Given the description of an element on the screen output the (x, y) to click on. 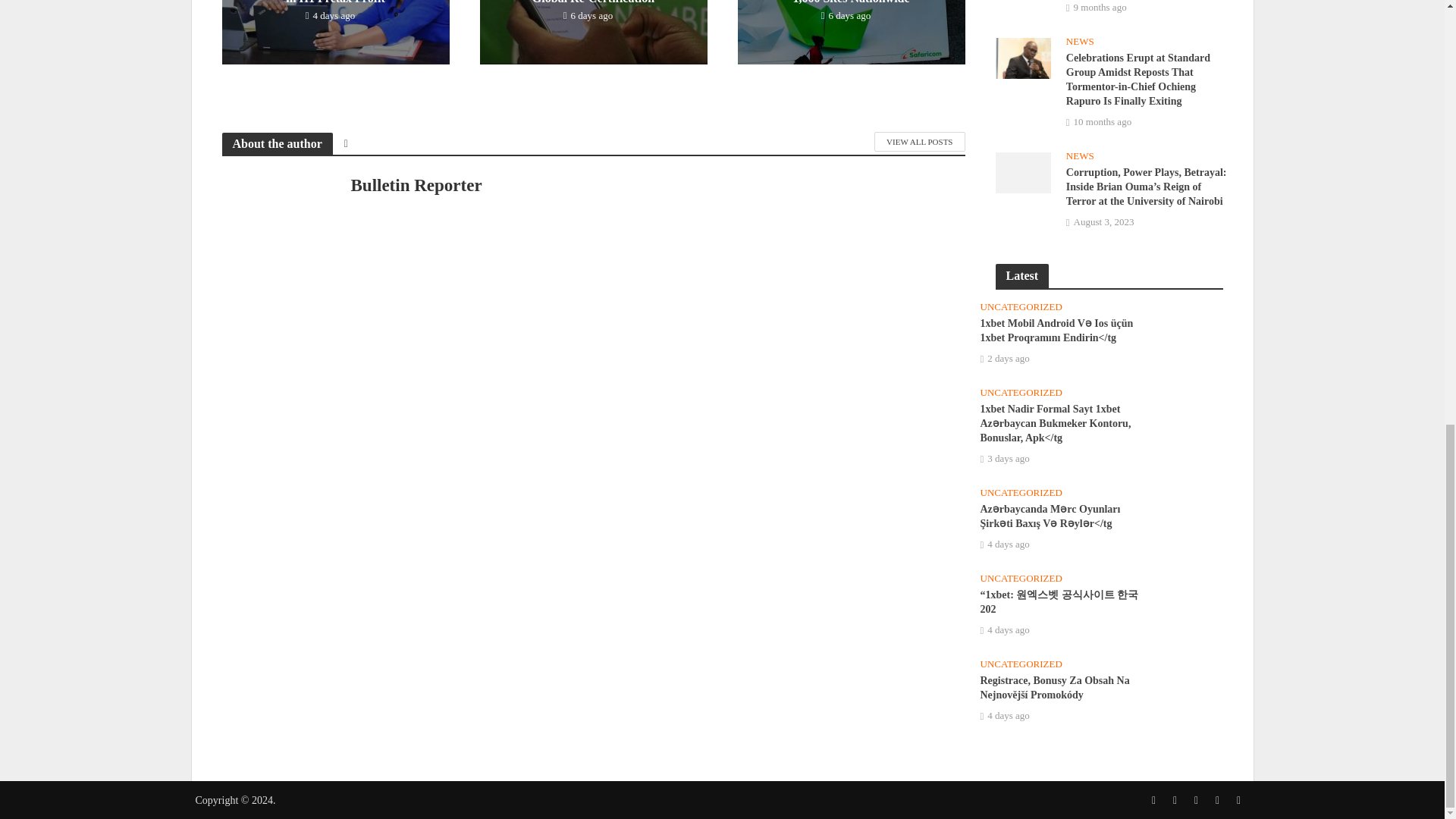
Centum Reports Significant Surge in H1 Pretax Profit (334, 32)
Safaricom 5G Expansion Soars Past 1,000 Sites Nationwide (849, 32)
M-PESA Scores Big with Major Global Re-Certification (592, 32)
